Given the description of an element on the screen output the (x, y) to click on. 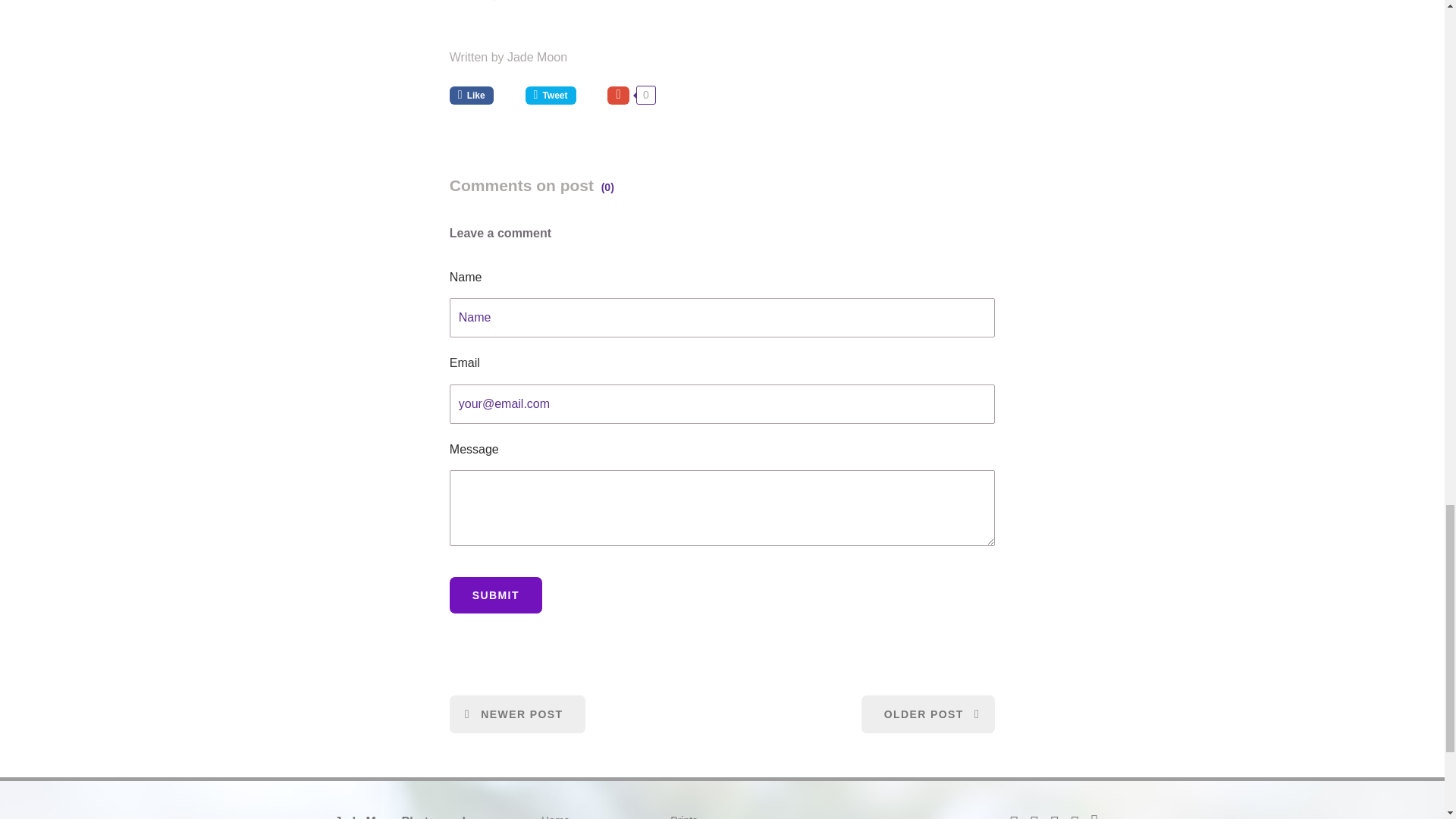
Submit (495, 595)
Home (555, 816)
Tweet (560, 94)
0 (631, 94)
Like (481, 94)
Submit (495, 595)
